Given the description of an element on the screen output the (x, y) to click on. 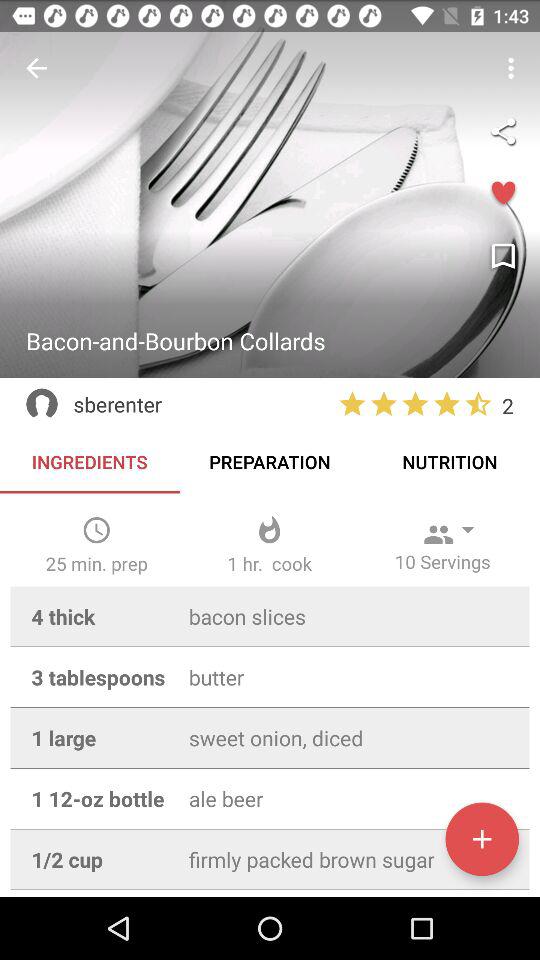
add item (482, 839)
